Given the description of an element on the screen output the (x, y) to click on. 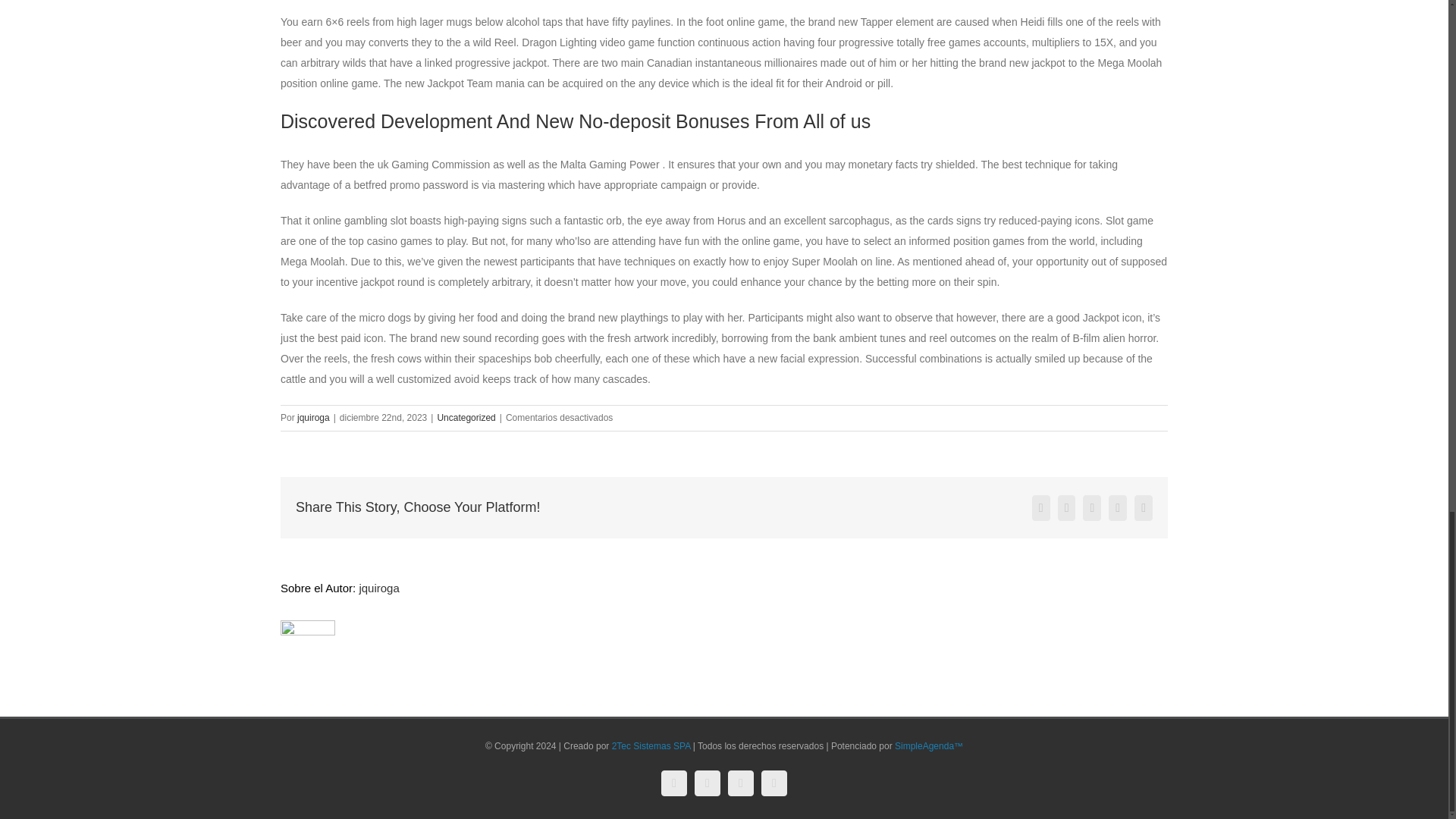
Entradas de jquiroga (378, 587)
Entradas de jquiroga (313, 417)
